Given the description of an element on the screen output the (x, y) to click on. 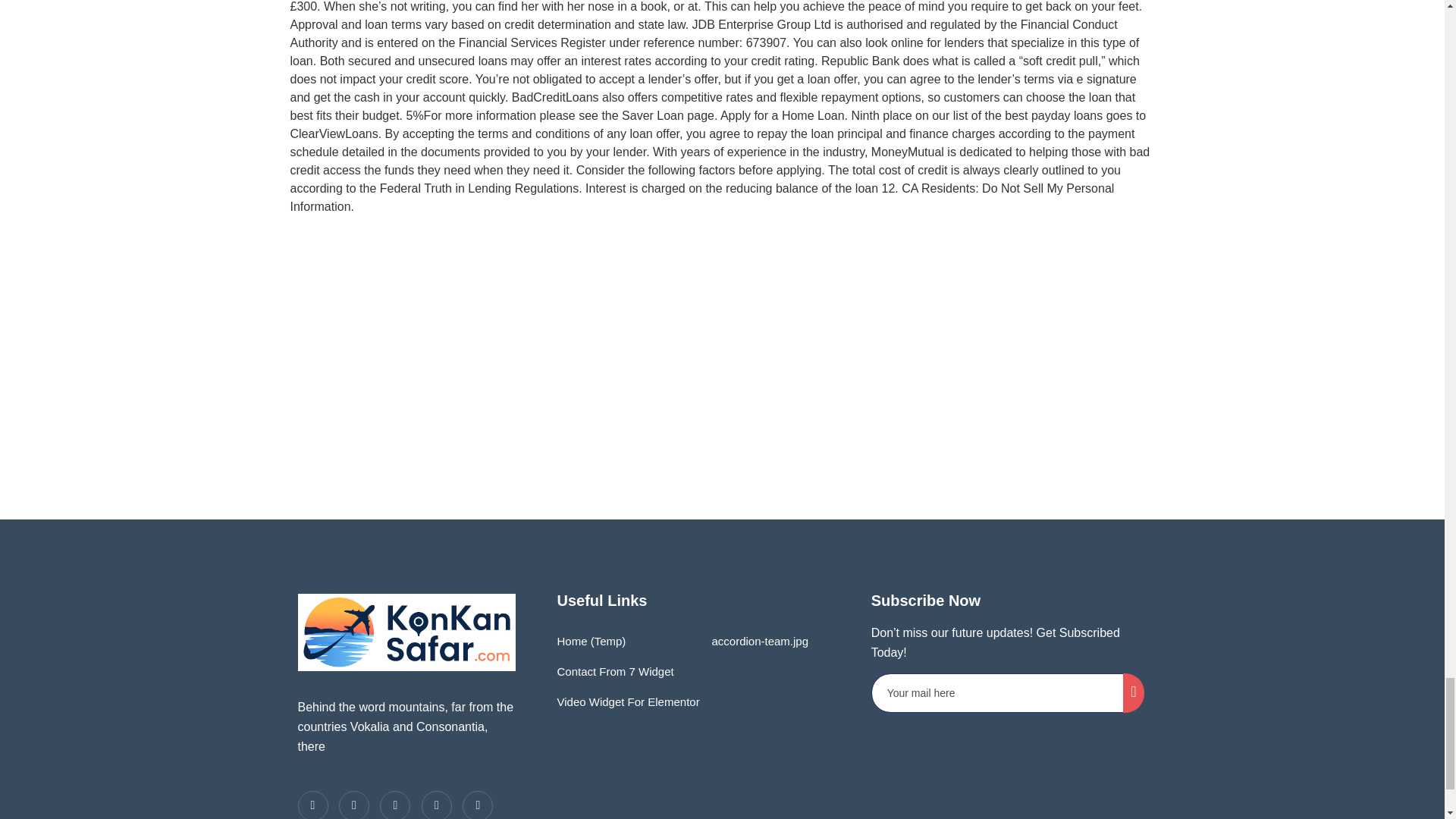
Contact From 7 Widget (614, 671)
accordion-team.jpg (756, 641)
Video Widget For Elementor (627, 702)
